Given the description of an element on the screen output the (x, y) to click on. 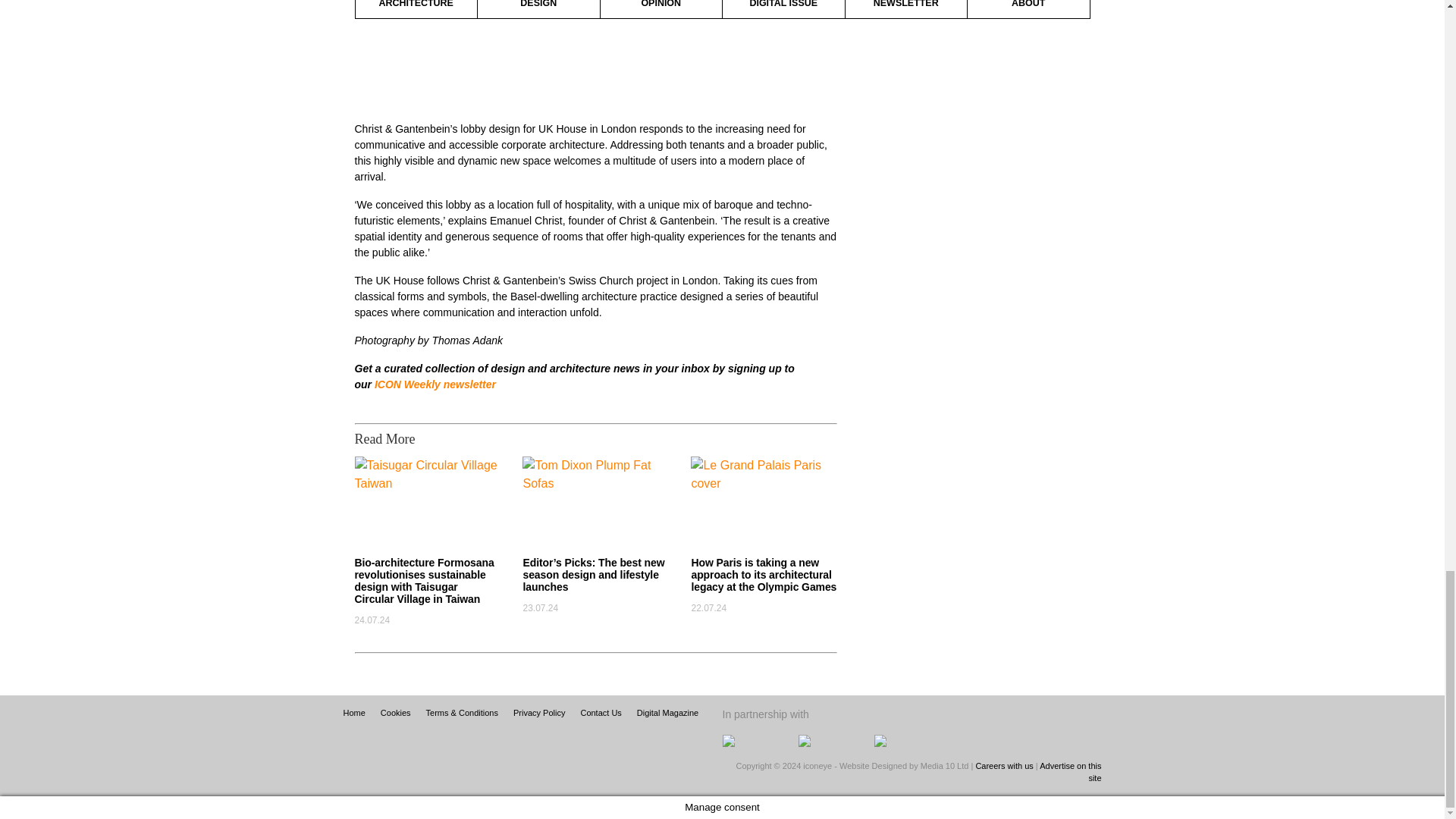
ICON Weekly newsletter (435, 384)
